Given the description of an element on the screen output the (x, y) to click on. 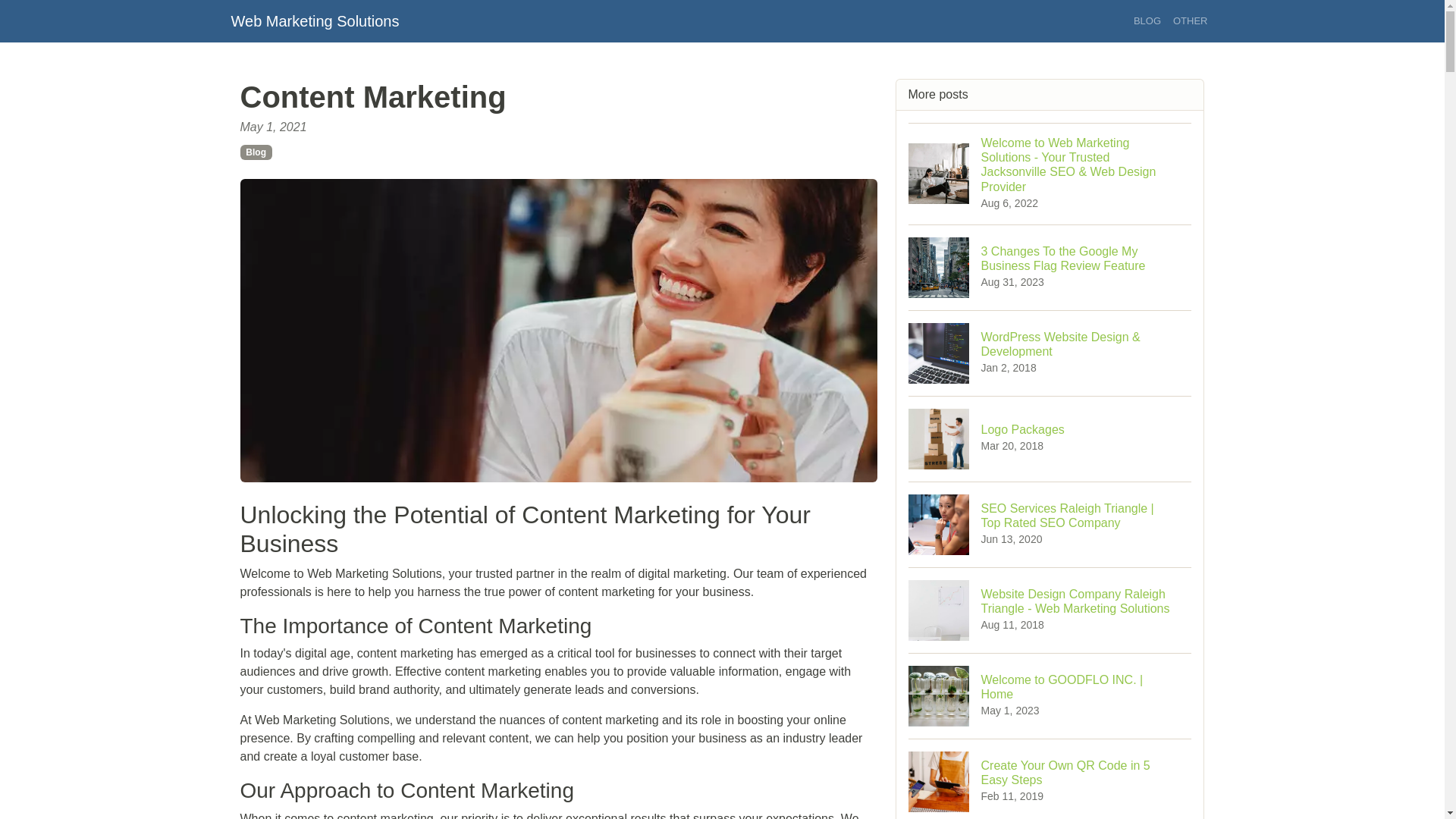
BLOG (1050, 438)
Blog (1146, 21)
Web Marketing Solutions (255, 151)
OTHER (1050, 778)
